Given the description of an element on the screen output the (x, y) to click on. 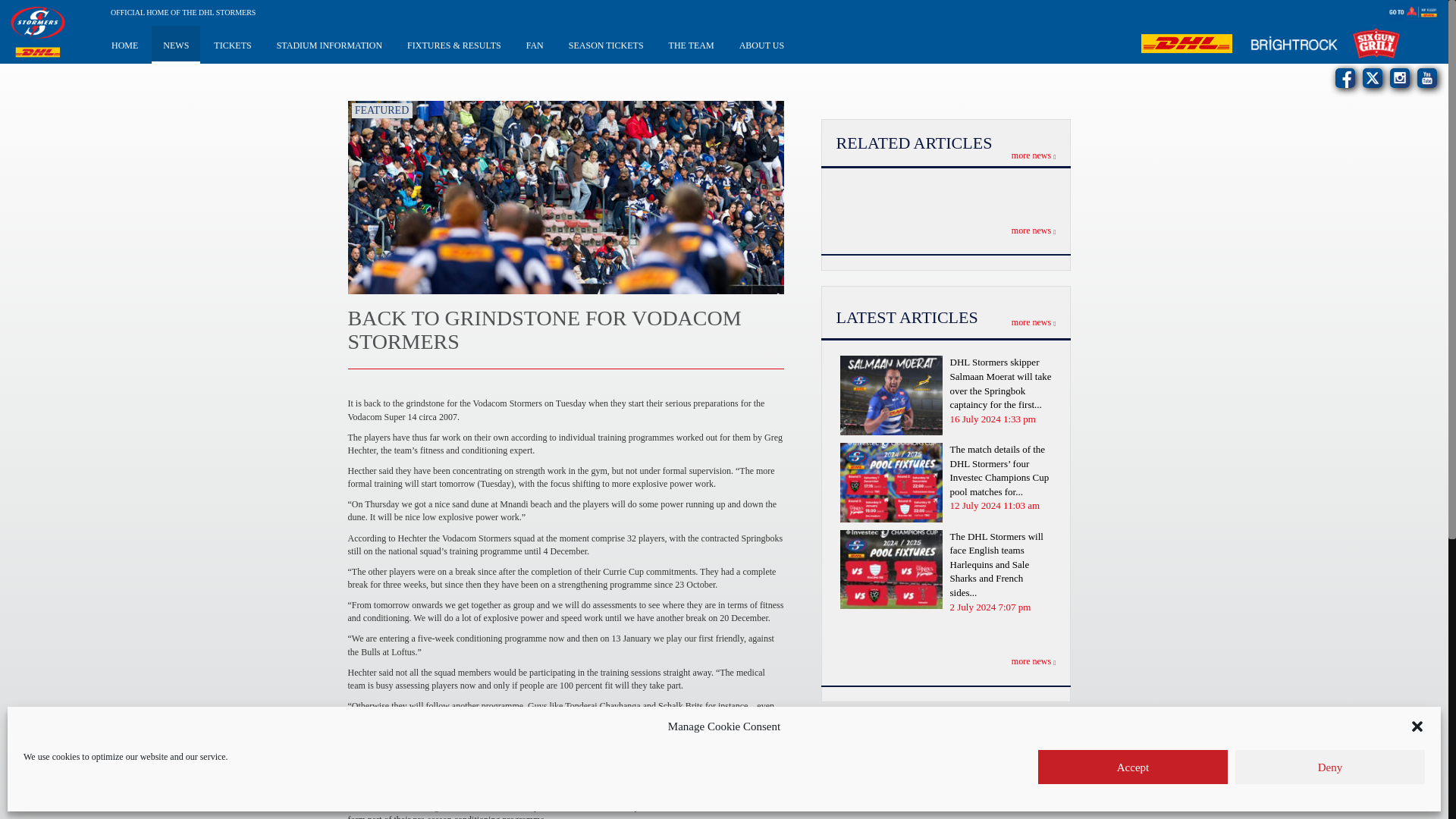
TICKETS (232, 44)
ABOUT US (761, 44)
SEASON TICKETS (606, 44)
Deny (1329, 766)
more news (1034, 230)
STADIUM INFORMATION (328, 44)
Accept (1132, 766)
more news (1034, 154)
more news (1034, 321)
THE TEAM (691, 44)
